Given the description of an element on the screen output the (x, y) to click on. 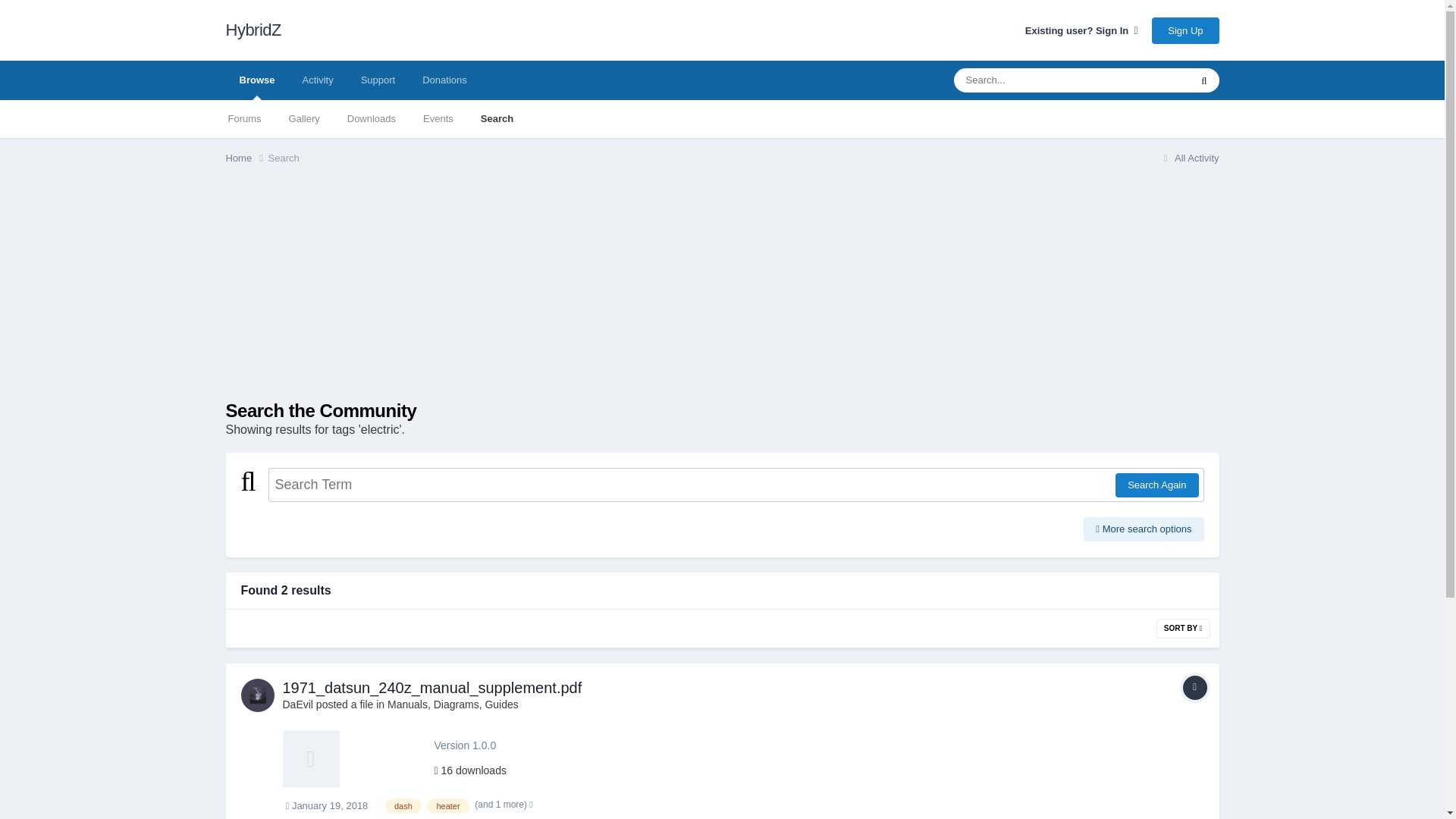
Gallery (304, 118)
Existing user? Sign In   (1081, 30)
Activity (317, 79)
All Activity (1188, 157)
Sign Up (1184, 29)
Go to DaEvil's profile (297, 704)
Go to DaEvil's profile (258, 694)
Downloads (371, 118)
File (1194, 687)
Advertisement (501, 294)
